Given the description of an element on the screen output the (x, y) to click on. 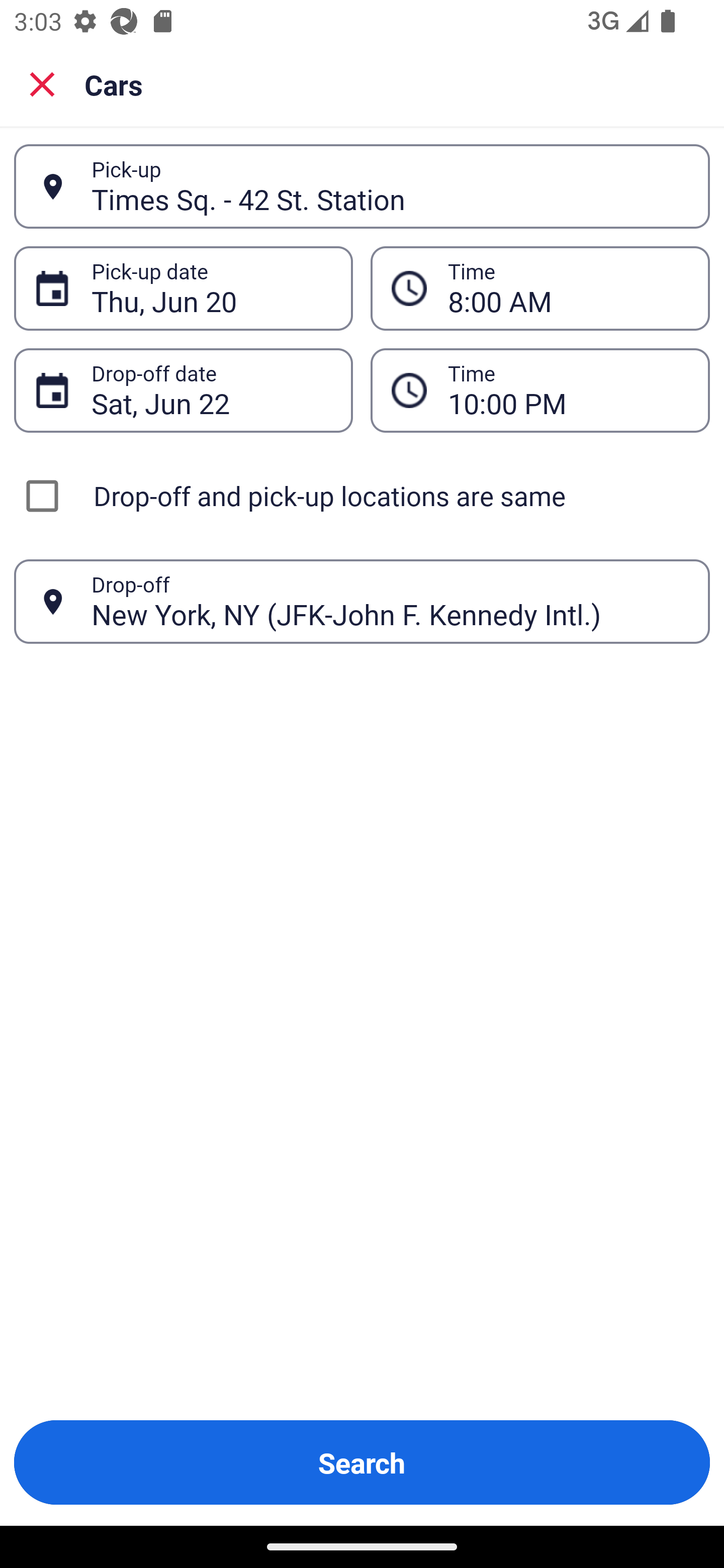
Close search screen (41, 83)
Times Sq. - 42 St. Station Pick-up (361, 186)
Times Sq. - 42 St. Station (389, 186)
Thu, Jun 20 Pick-up date (183, 288)
8:00 AM (540, 288)
Thu, Jun 20 (211, 288)
8:00 AM (568, 288)
Sat, Jun 22 Drop-off date (183, 390)
10:00 PM (540, 390)
Sat, Jun 22 (211, 390)
10:00 PM (568, 390)
Drop-off and pick-up locations are same (361, 495)
New York, NY (JFK-John F. Kennedy Intl.) Drop-off (361, 601)
New York, NY (JFK-John F. Kennedy Intl.) (389, 601)
Search Button Search (361, 1462)
